Given the description of an element on the screen output the (x, y) to click on. 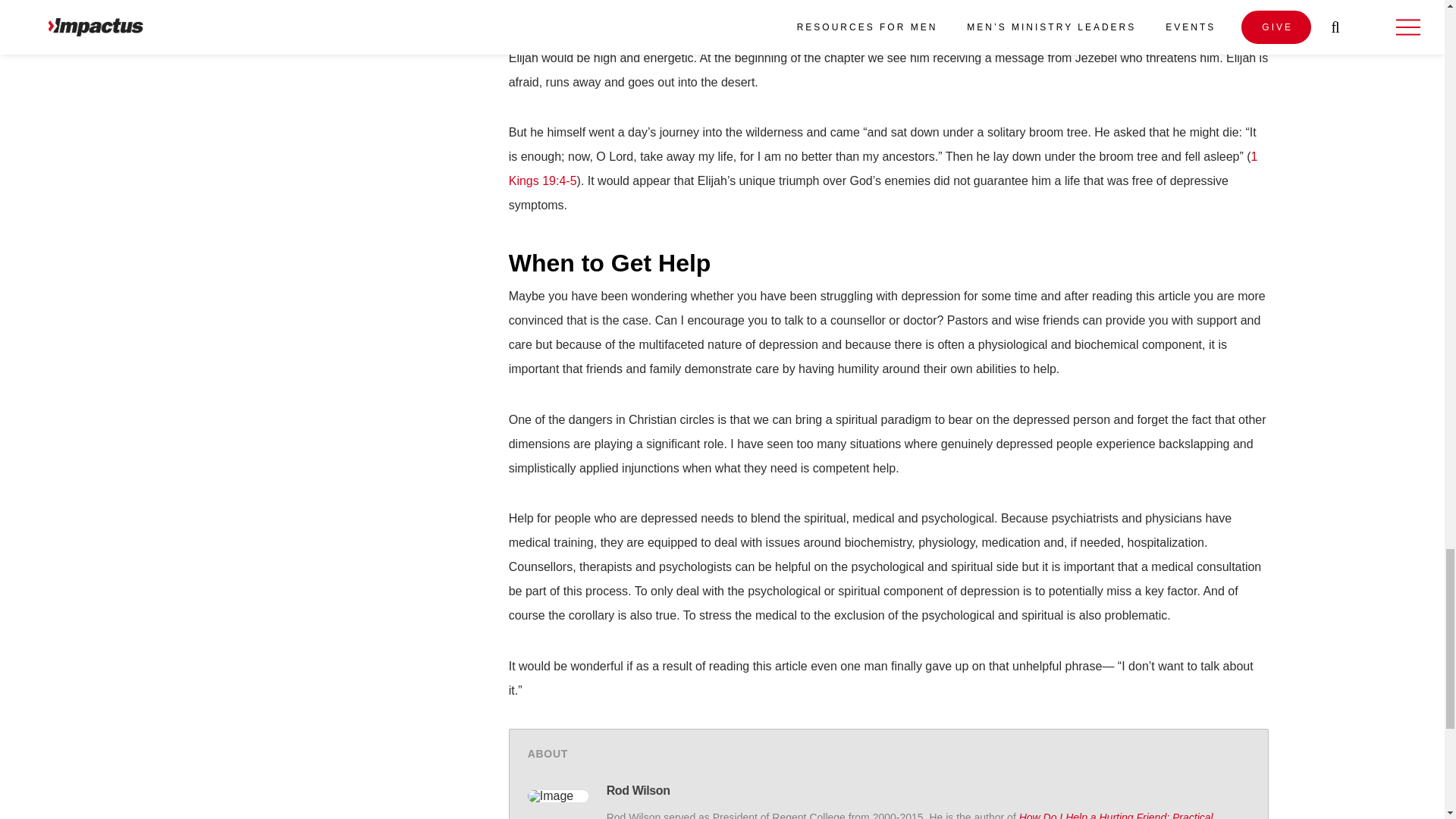
1 Kings 19:4-5 (882, 168)
